Given the description of an element on the screen output the (x, y) to click on. 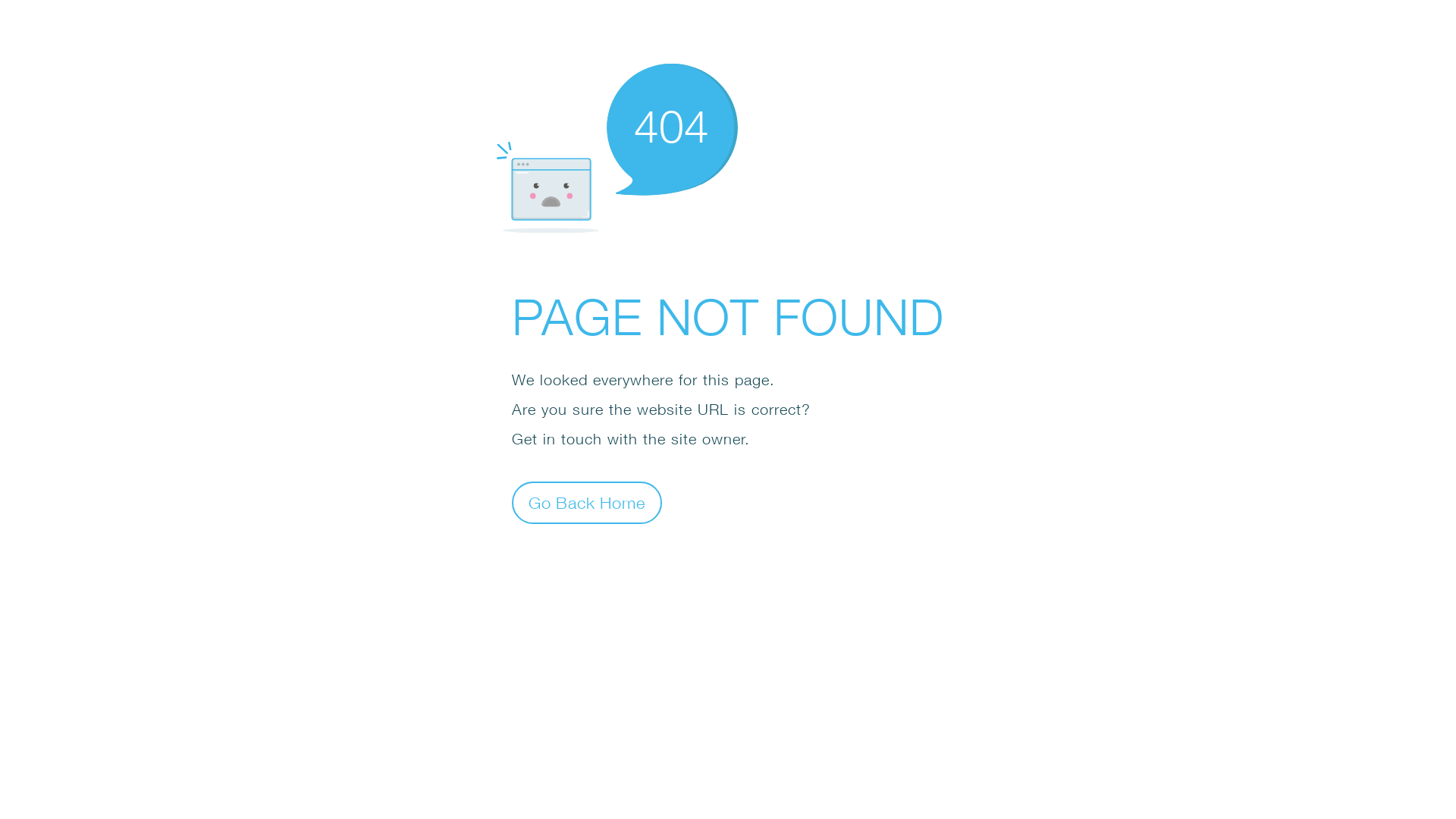
Go Back Home Element type: text (586, 502)
